Given the description of an element on the screen output the (x, y) to click on. 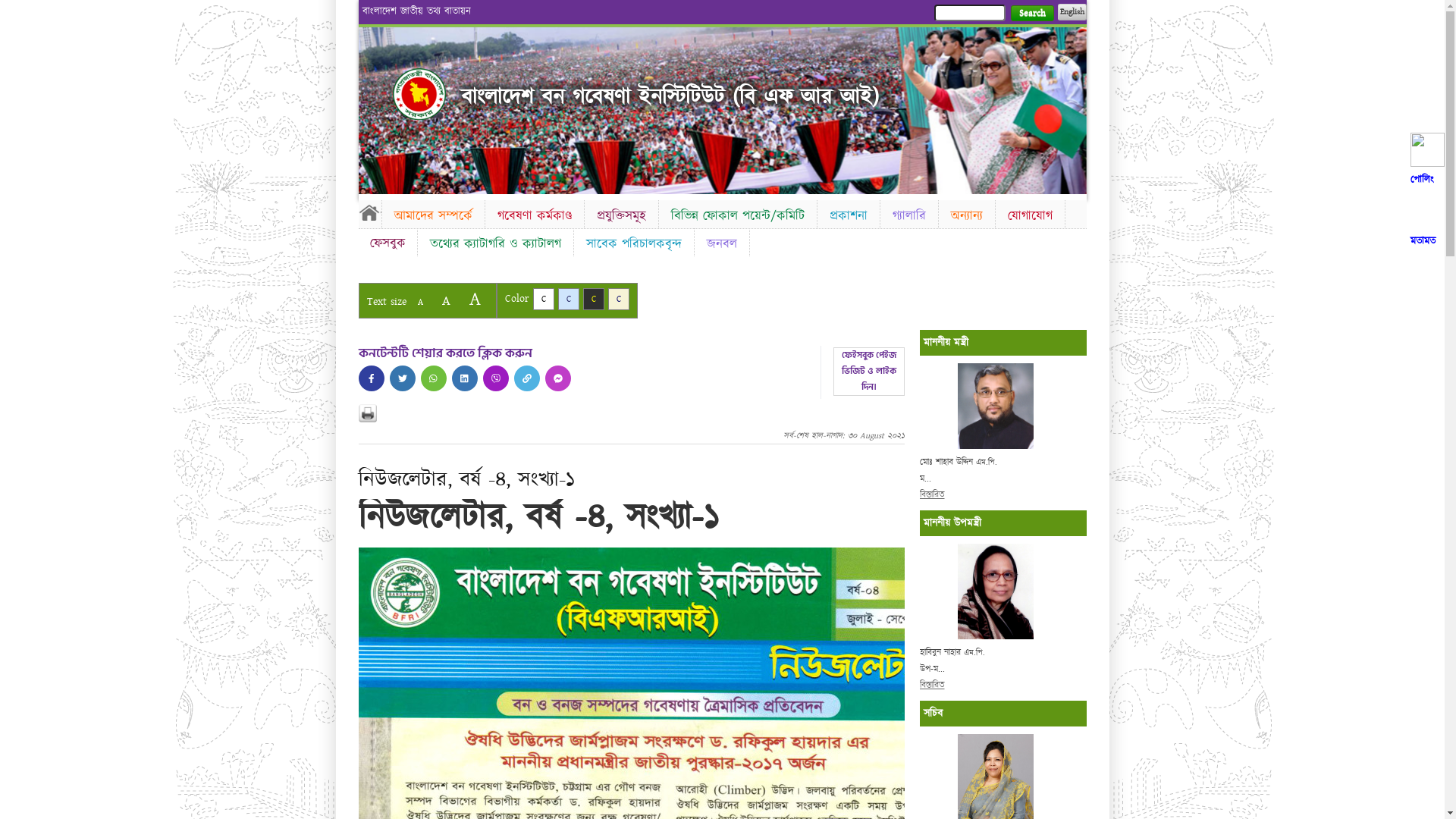
C Element type: text (618, 299)
Home Element type: hover (368, 211)
English Element type: text (1071, 11)
Home Element type: hover (418, 93)
A Element type: text (474, 298)
C Element type: text (542, 299)
C Element type: text (568, 299)
C Element type: text (592, 299)
A Element type: text (419, 301)
A Element type: text (445, 300)
Search Element type: text (1031, 13)
